Given the description of an element on the screen output the (x, y) to click on. 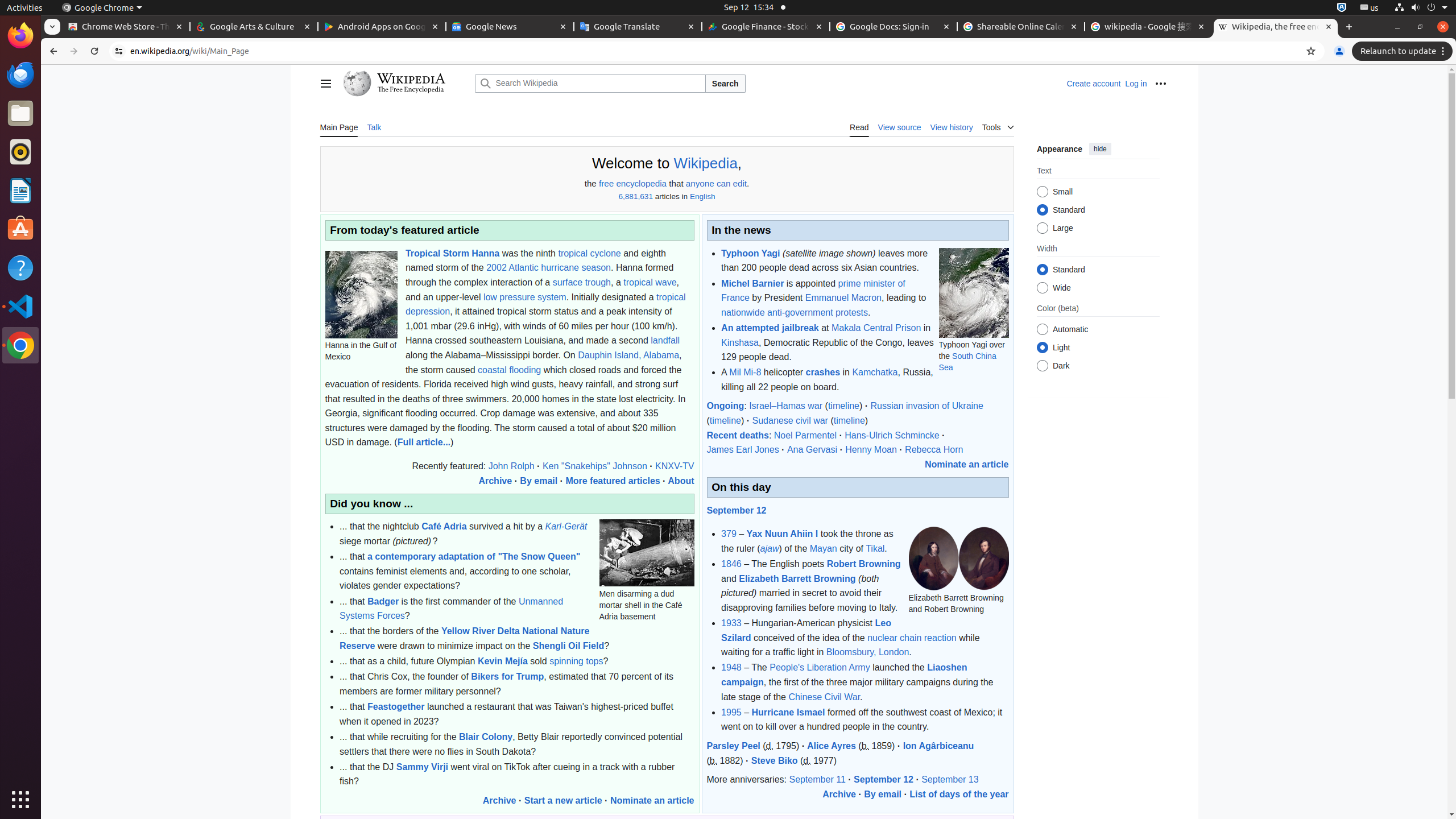
Nominate an article Element type: link (651, 800)
Shareable Online Calendar and Scheduling - Google Calendar - Memory usage - 88.5 MB Element type: page-tab (1020, 26)
James Earl Jones Element type: link (742, 449)
:1.21/StatusNotifierItem Element type: menu (1369, 7)
anyone can edit Element type: link (716, 183)
